Given the description of an element on the screen output the (x, y) to click on. 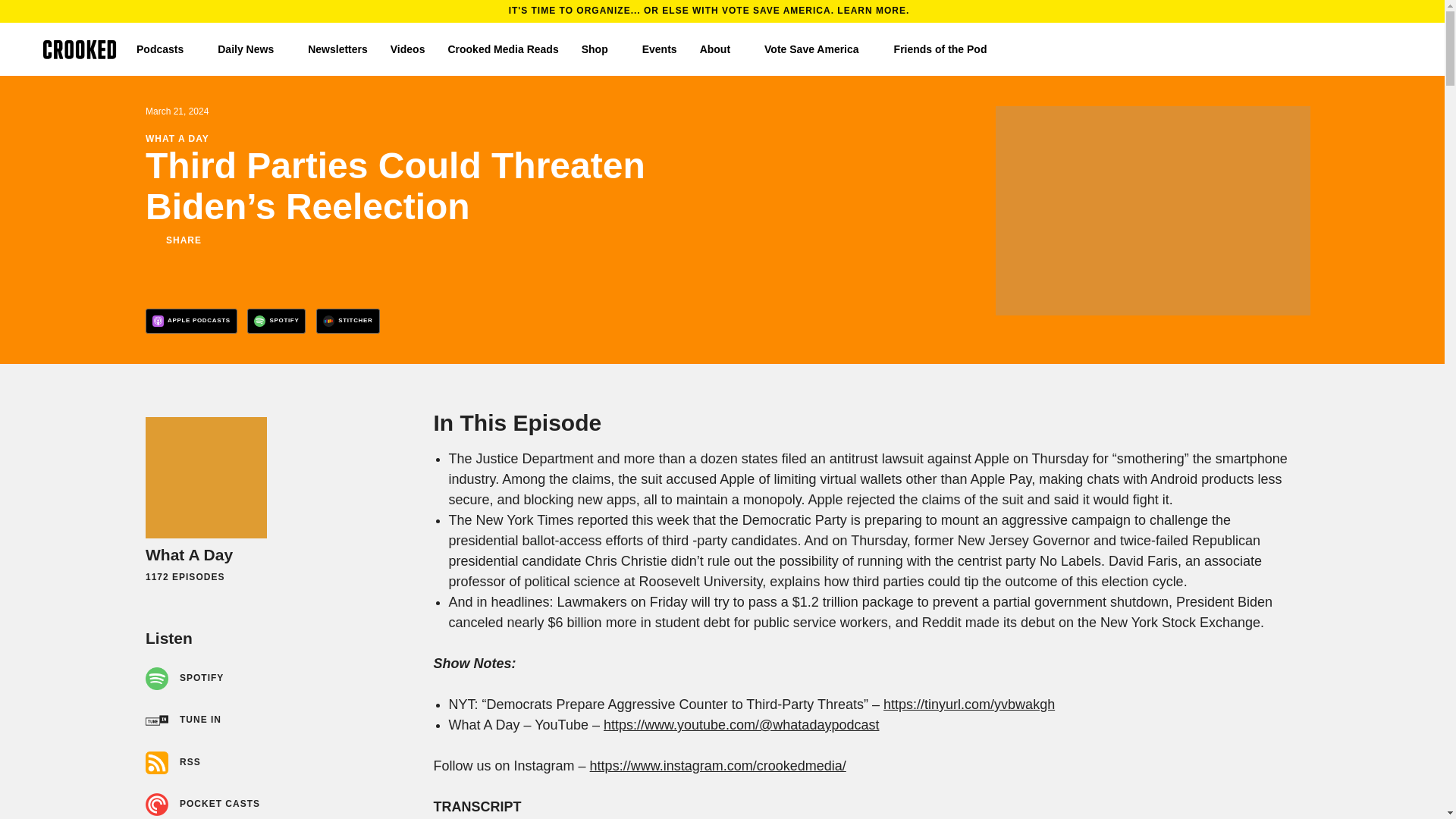
Crooked Media Reads (501, 48)
Vote Save America (817, 48)
Shop (600, 48)
Daily News (250, 48)
Events (659, 48)
Videos (407, 48)
About (720, 48)
Newsletters (337, 48)
